Given the description of an element on the screen output the (x, y) to click on. 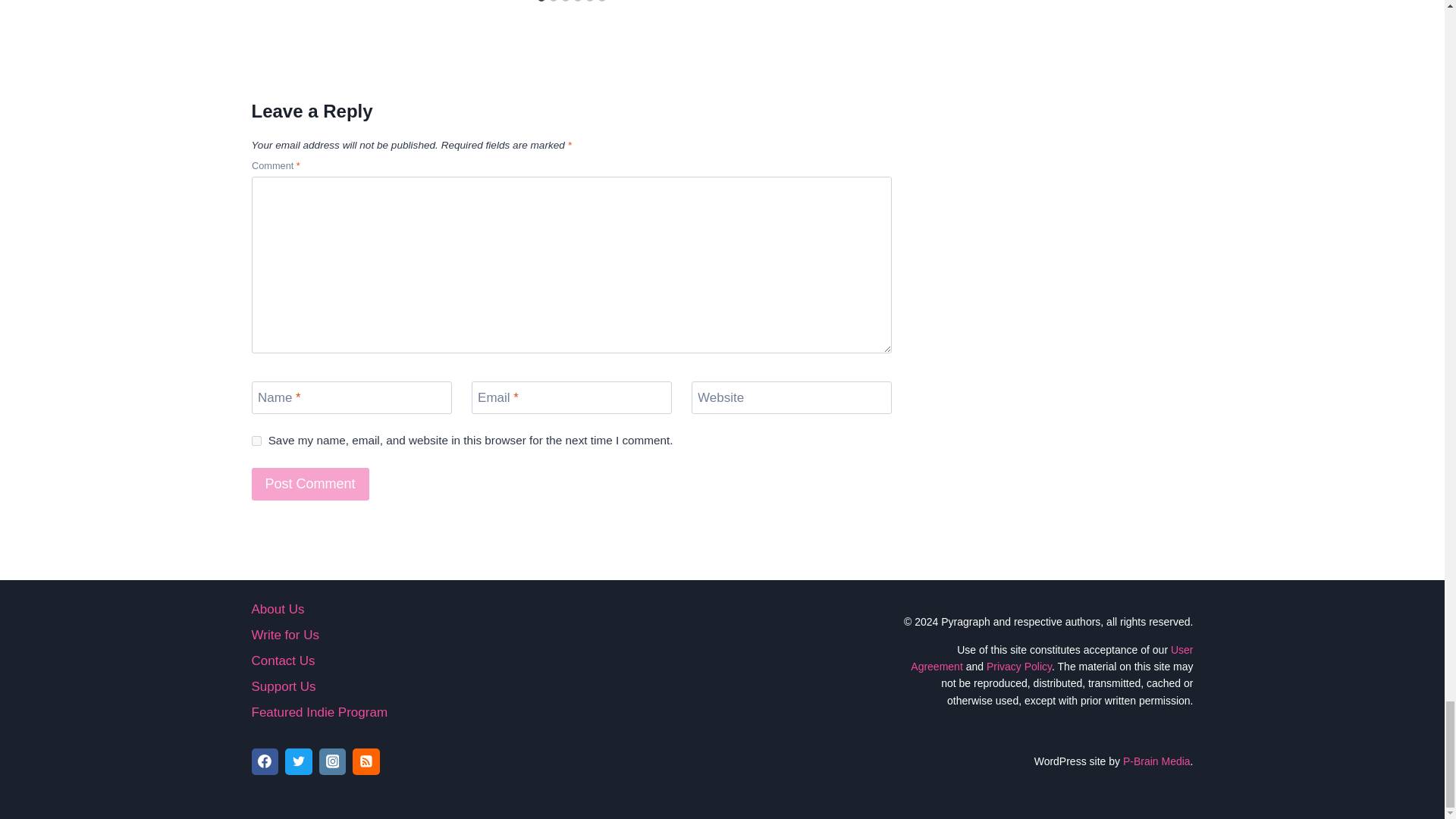
Post Comment (310, 483)
yes (256, 440)
